Given the description of an element on the screen output the (x, y) to click on. 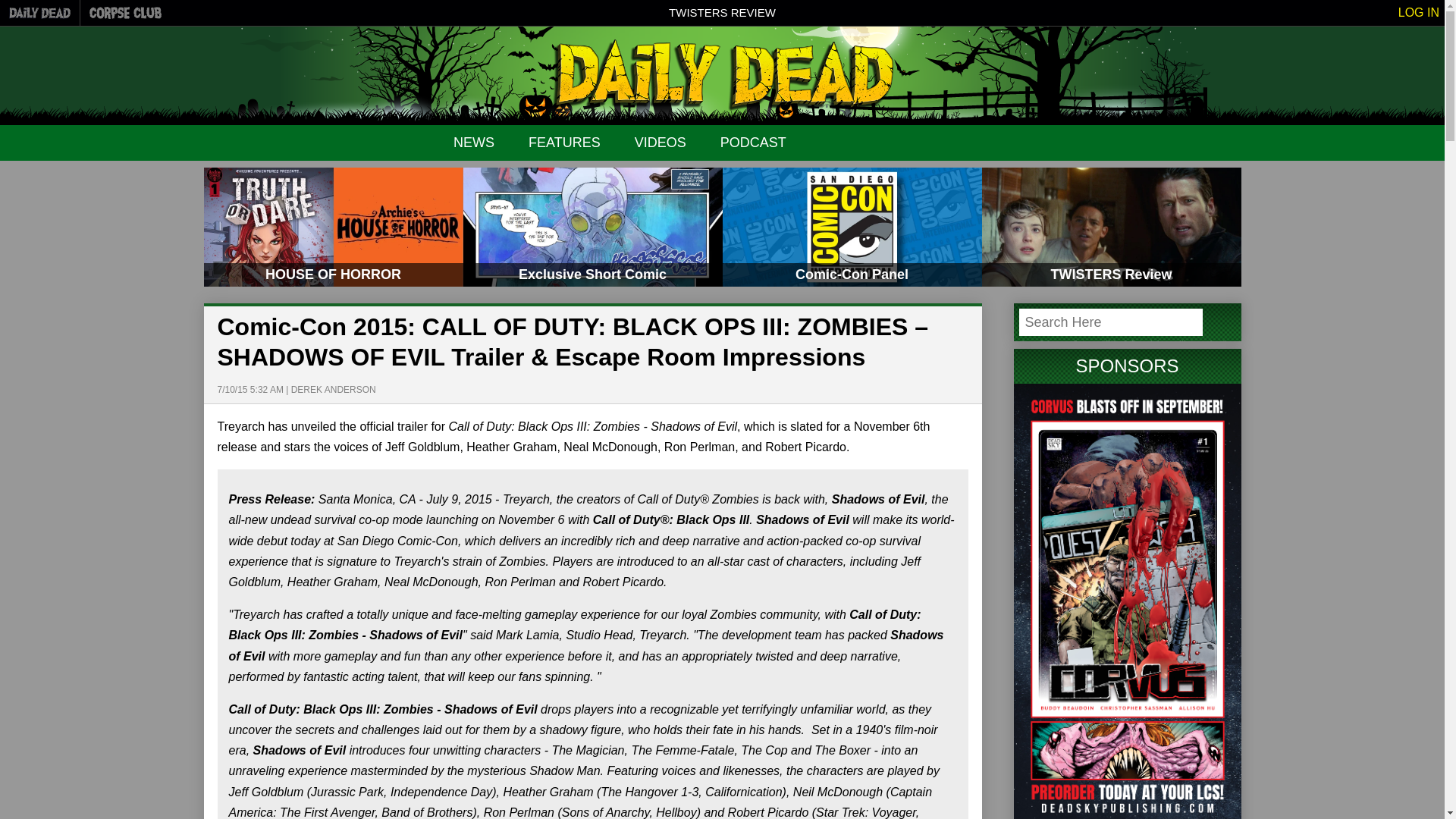
TWISTERS Review (1110, 226)
NEWS (473, 142)
TWISTERS REVIEW (722, 11)
FEATURES (563, 142)
PODCAST (753, 142)
Comic-Con Panel (851, 226)
DEREK ANDERSON (333, 389)
Exclusive Short Comic (592, 226)
LOG IN (1418, 11)
VIDEOS (659, 142)
HOUSE OF HORROR (333, 226)
